Given the description of an element on the screen output the (x, y) to click on. 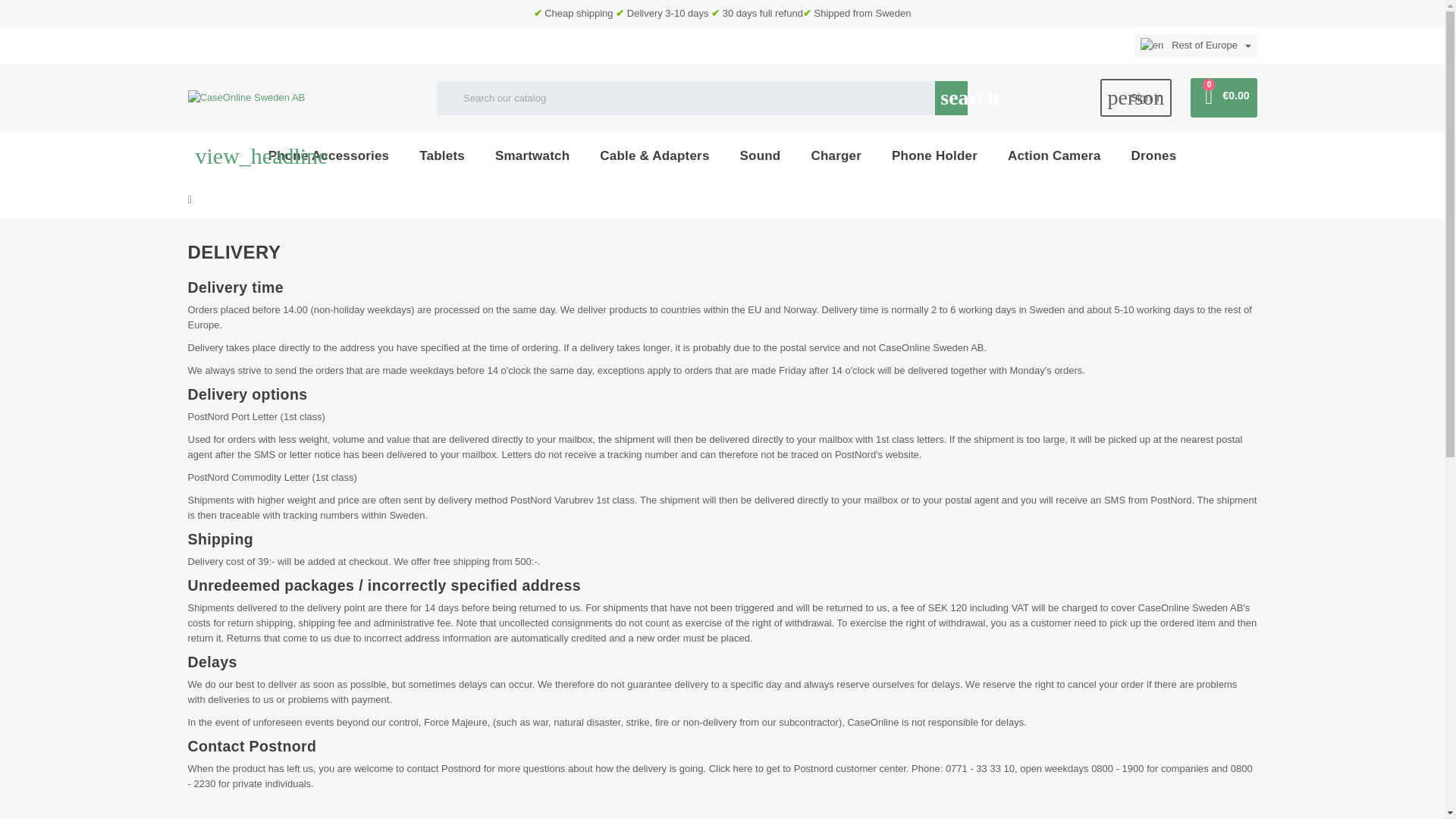
  Rest of Europe (1195, 45)
CaseOnline Sweden AB (246, 97)
Log in to your customer account (1136, 97)
search (951, 97)
